Given the description of an element on the screen output the (x, y) to click on. 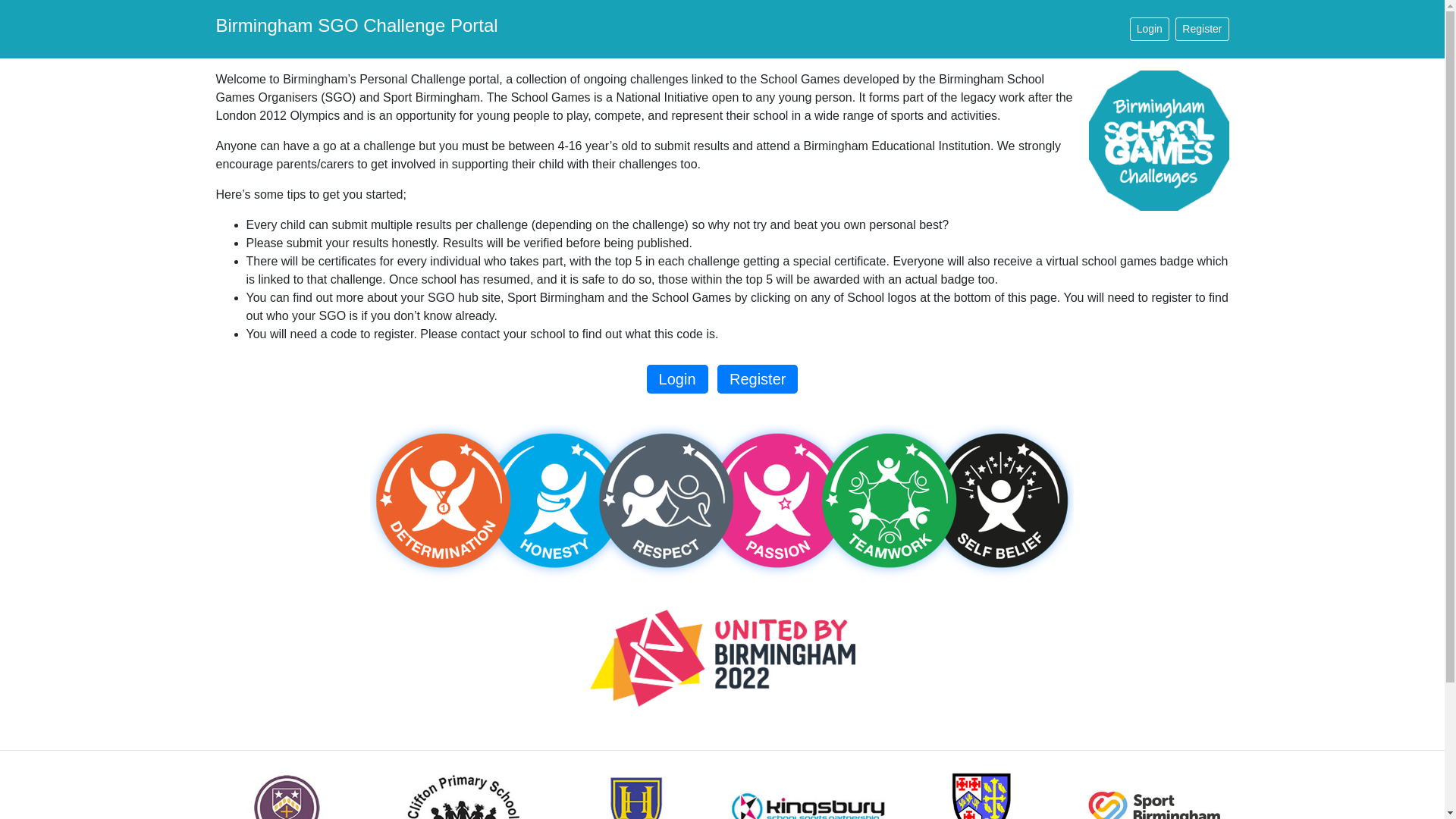
Register (1201, 28)
Register (757, 378)
Birmingham SGO Challenge Portal (356, 28)
Login (676, 378)
Login (1149, 28)
